Given the description of an element on the screen output the (x, y) to click on. 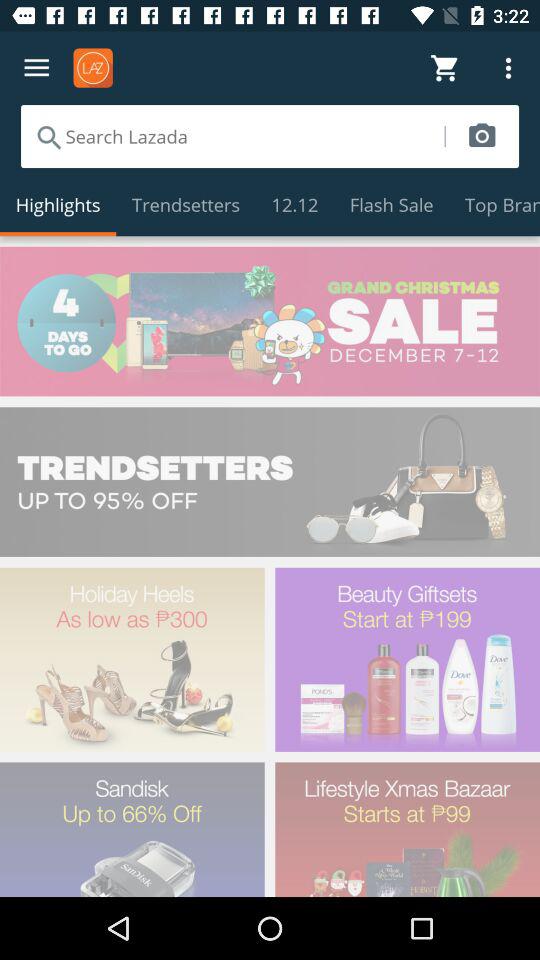
trendsetters advertisement (270, 481)
